Given the description of an element on the screen output the (x, y) to click on. 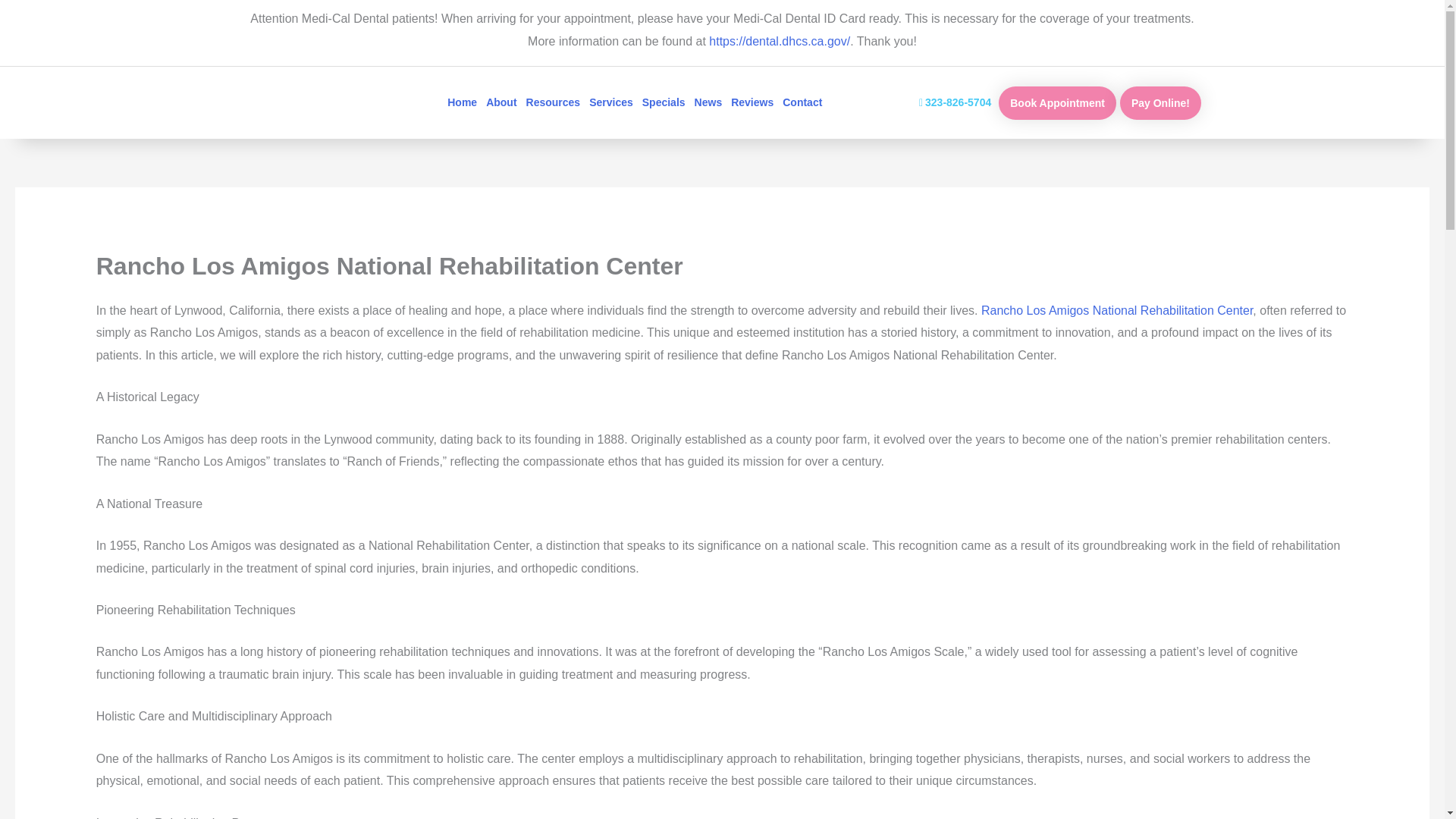
Rancho Los Amigos National Rehabilitation Center (1116, 309)
Pay Online! (1160, 102)
Book Appointment (1057, 102)
Resources (553, 102)
Home (461, 102)
News (708, 102)
Reviews (751, 102)
Services (611, 102)
323-826-5704 (954, 102)
Contact (802, 102)
